Given the description of an element on the screen output the (x, y) to click on. 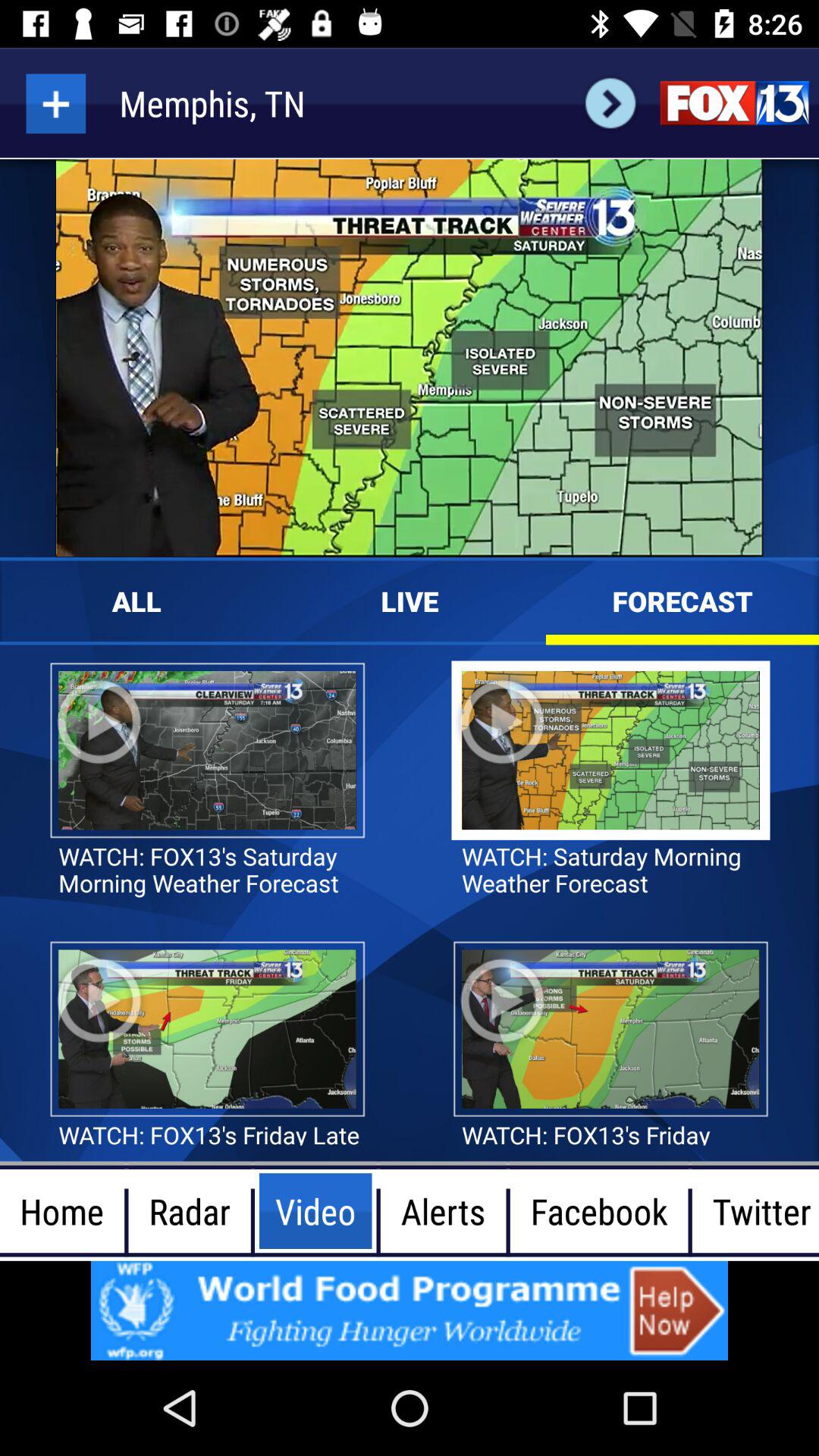
advertisement image (409, 1310)
